Given the description of an element on the screen output the (x, y) to click on. 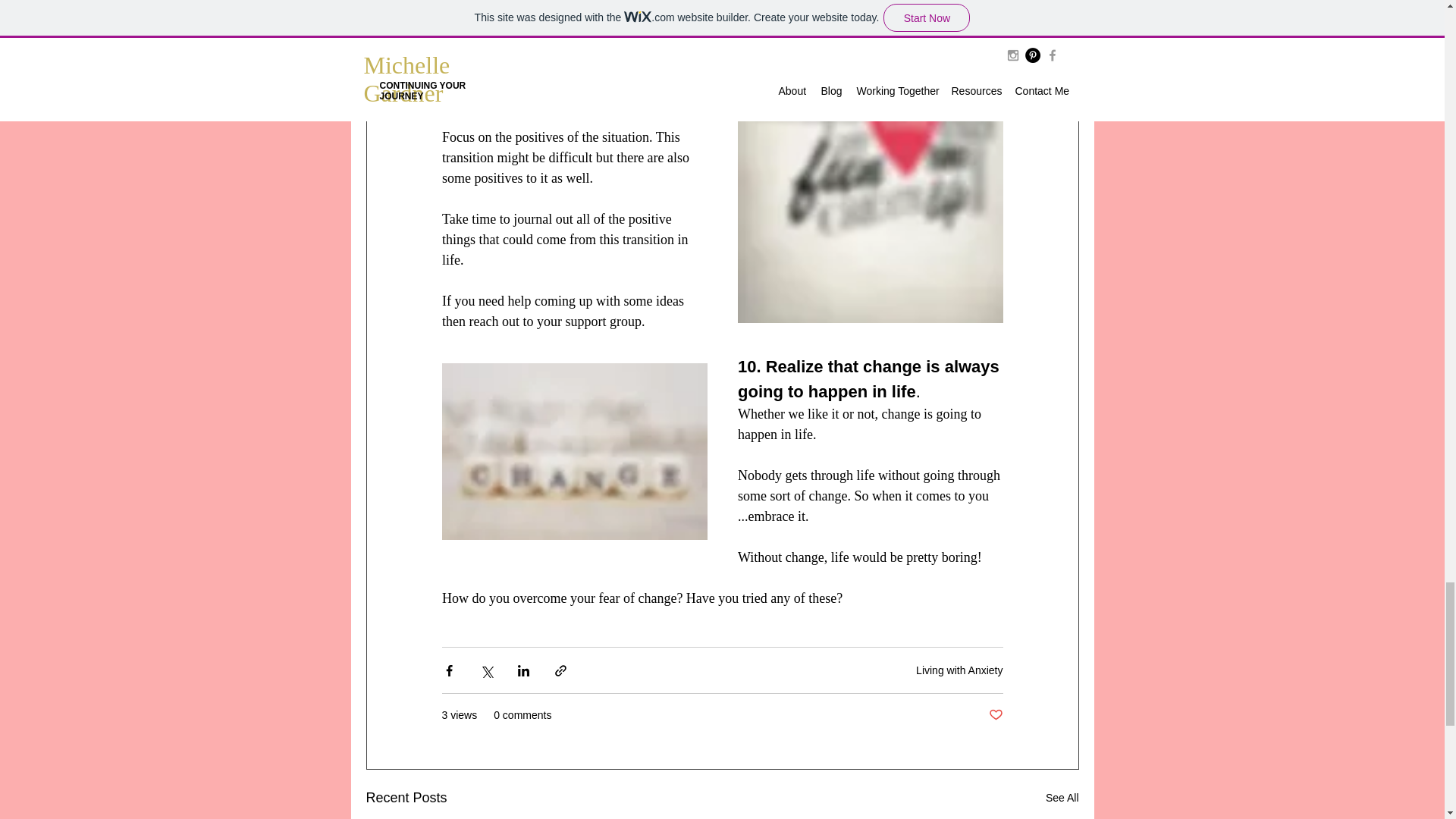
happiness (507, 75)
Post not marked as liked (995, 715)
Living with Anxiety (959, 670)
See All (1061, 798)
